Given the description of an element on the screen output the (x, y) to click on. 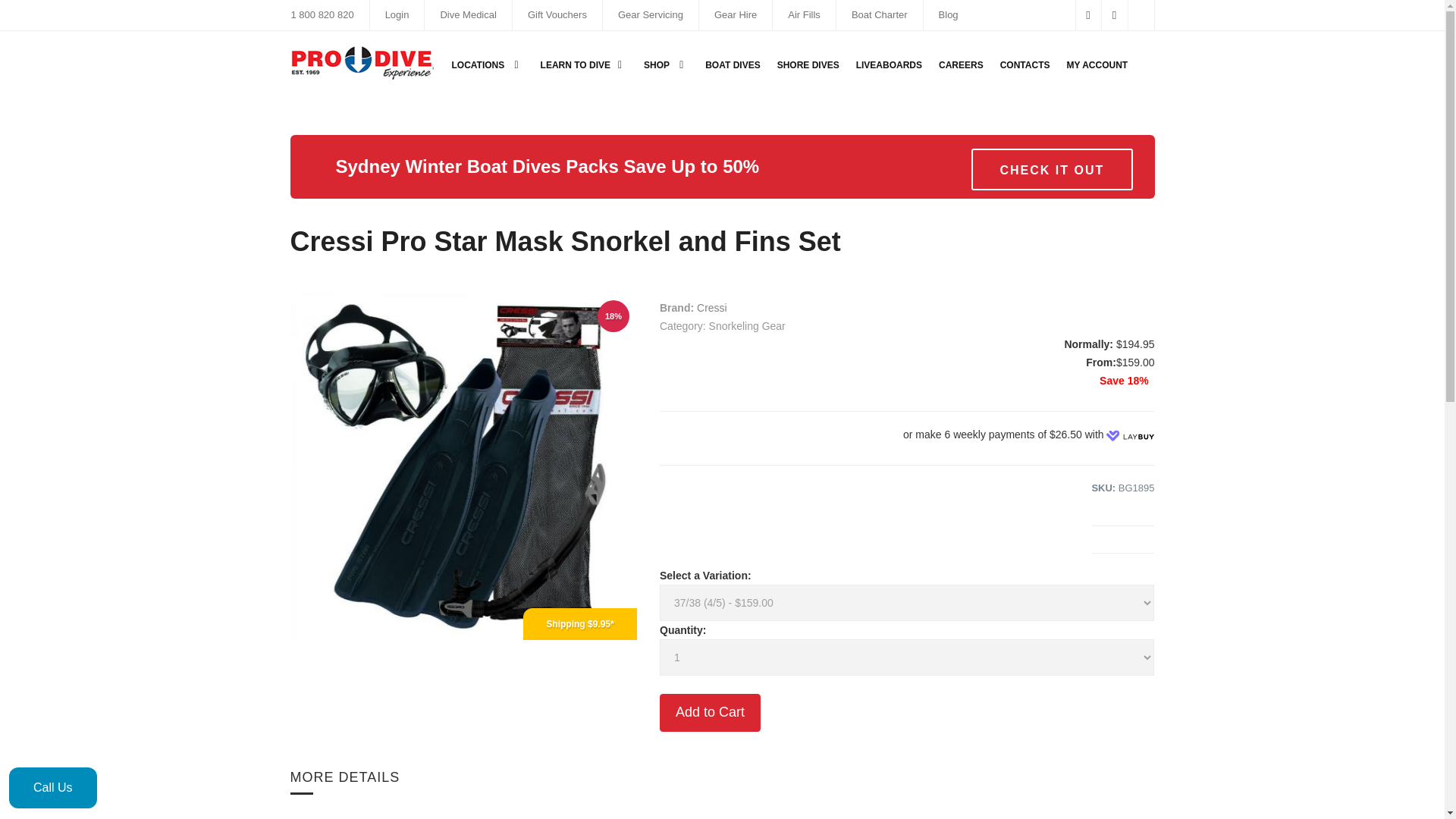
Add to Cart (709, 712)
LOCATIONS (487, 64)
1 800 820 820 (322, 14)
Gift Vouchers (556, 14)
Air Fills (804, 14)
Boat Charter (879, 14)
Login (397, 14)
Gear Hire (735, 14)
SHOP (665, 64)
Gear Servicing (649, 14)
Blog (948, 14)
LEARN TO DIVE (583, 64)
Dive Medical (467, 14)
